Given the description of an element on the screen output the (x, y) to click on. 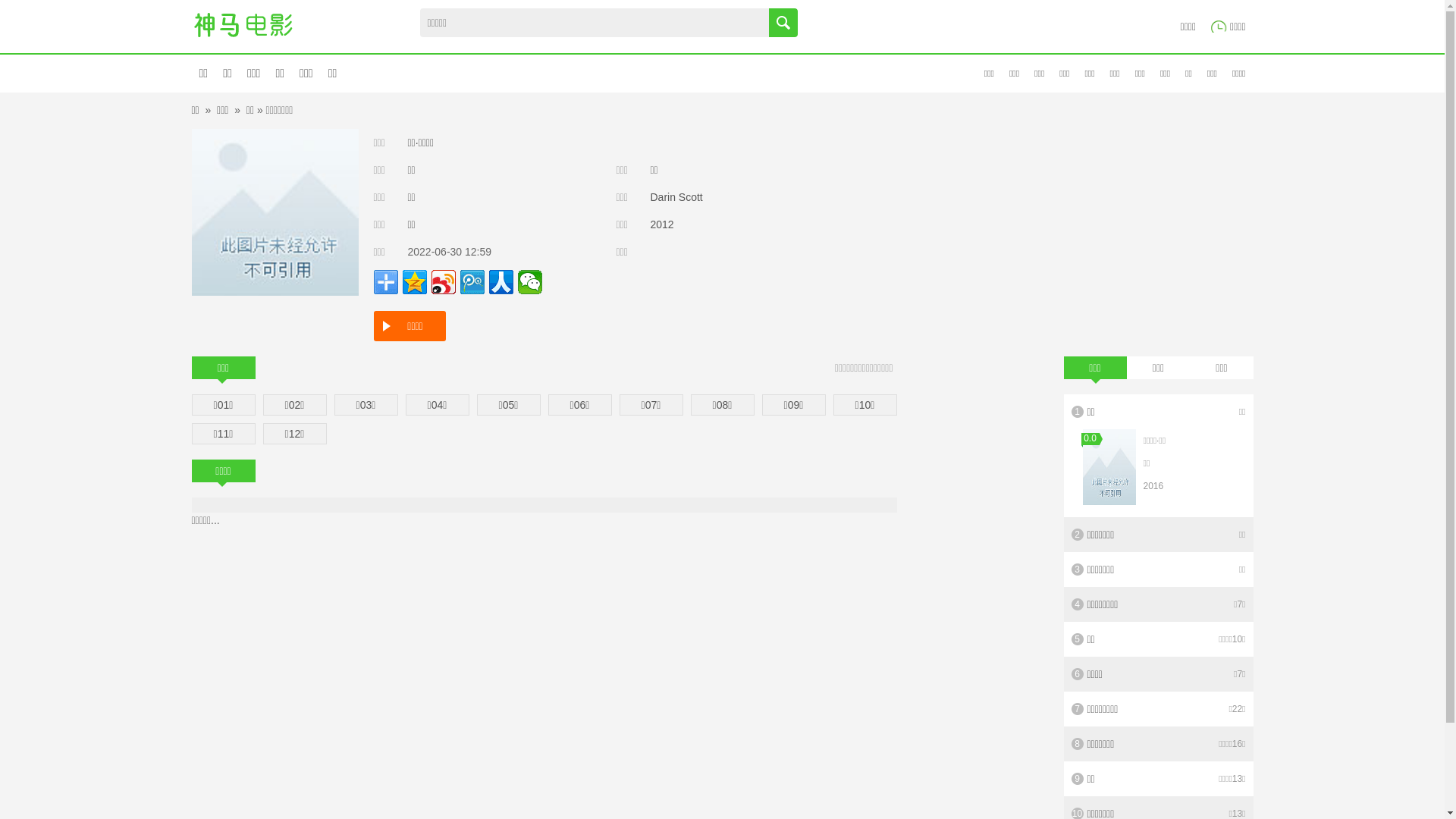
Scott Element type: text (690, 197)
2012 Element type: text (662, 224)
Darin Element type: text (662, 197)
